Given the description of an element on the screen output the (x, y) to click on. 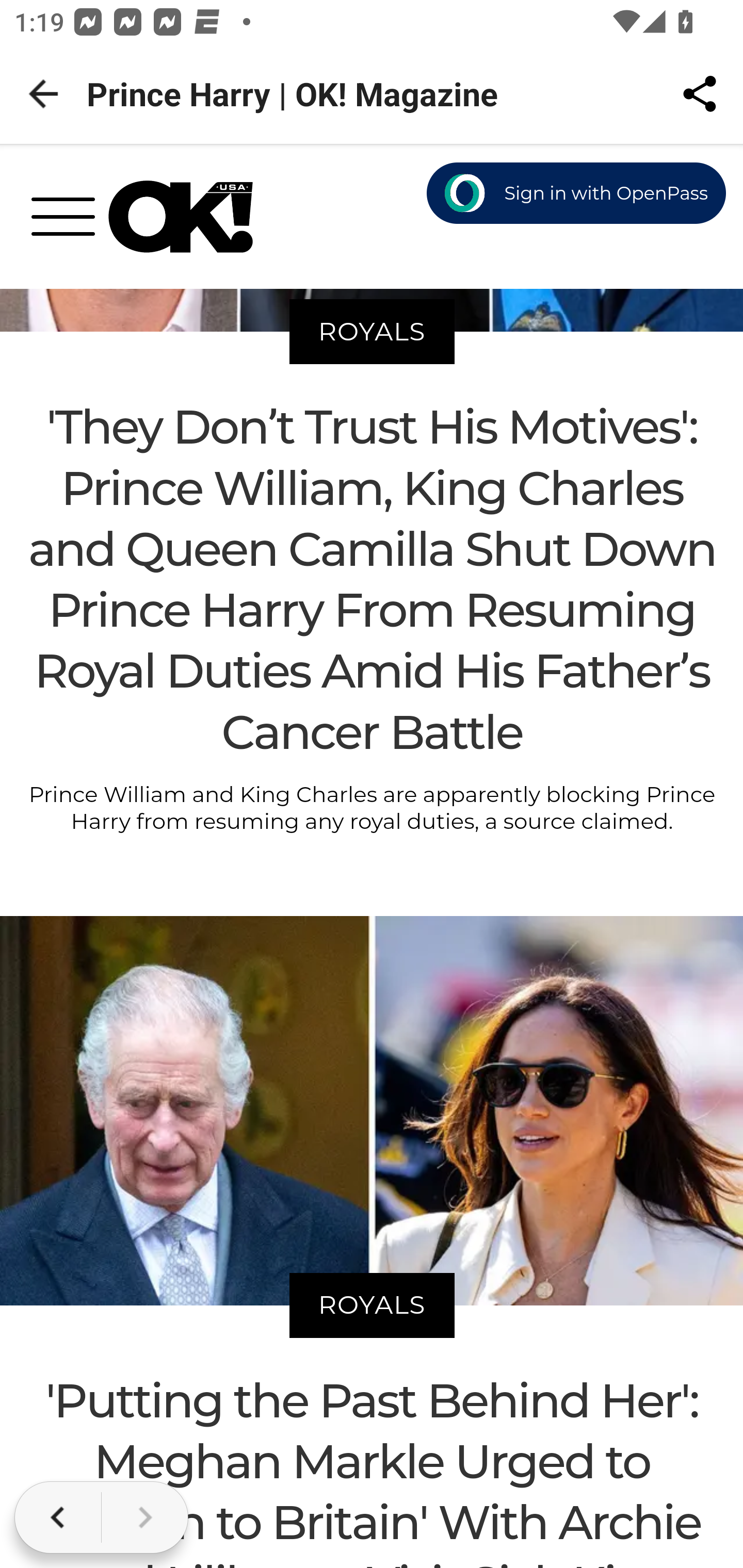
Sign in with OpenPass Button (576, 194)
toggle (70, 222)
OK Magazine (180, 217)
